Given the description of an element on the screen output the (x, y) to click on. 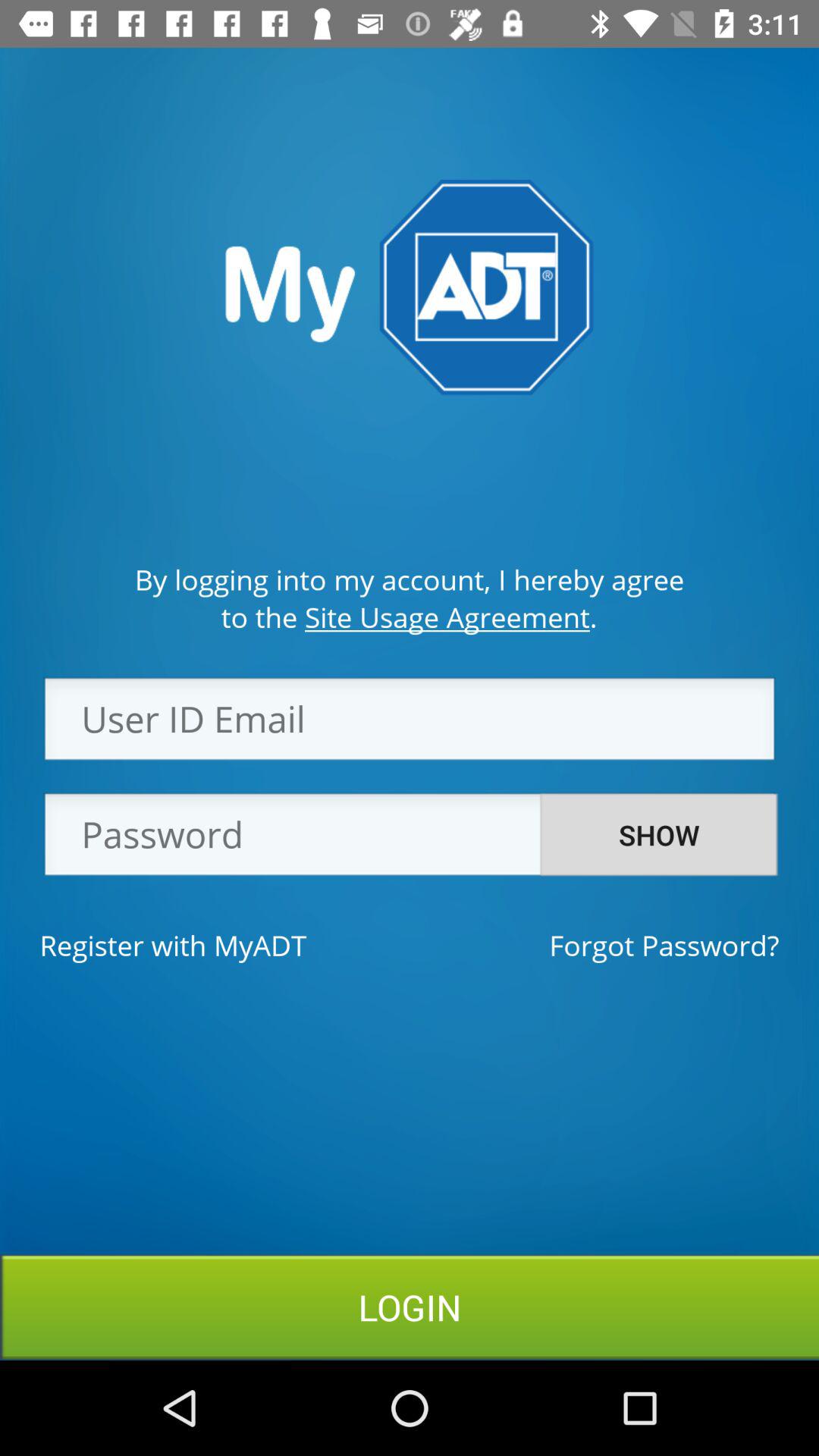
swipe to the forgot password? item (664, 945)
